Given the description of an element on the screen output the (x, y) to click on. 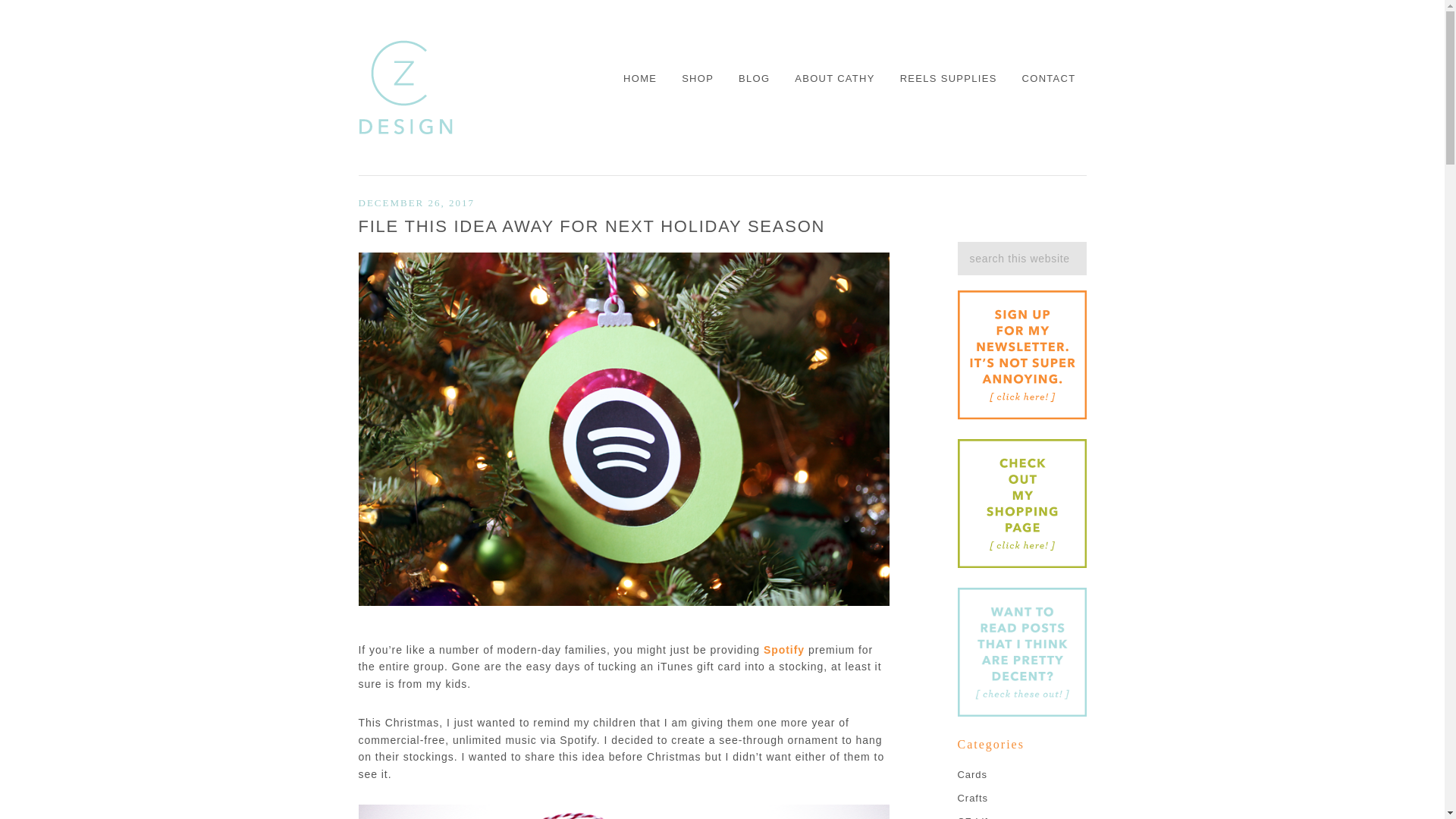
HOME (639, 78)
ABOUT CATHY (834, 78)
CZ Life (975, 817)
Crafts (971, 797)
BLOG (754, 78)
Spotify (783, 649)
SHOP (697, 78)
REELS SUPPLIES (948, 78)
